Given the description of an element on the screen output the (x, y) to click on. 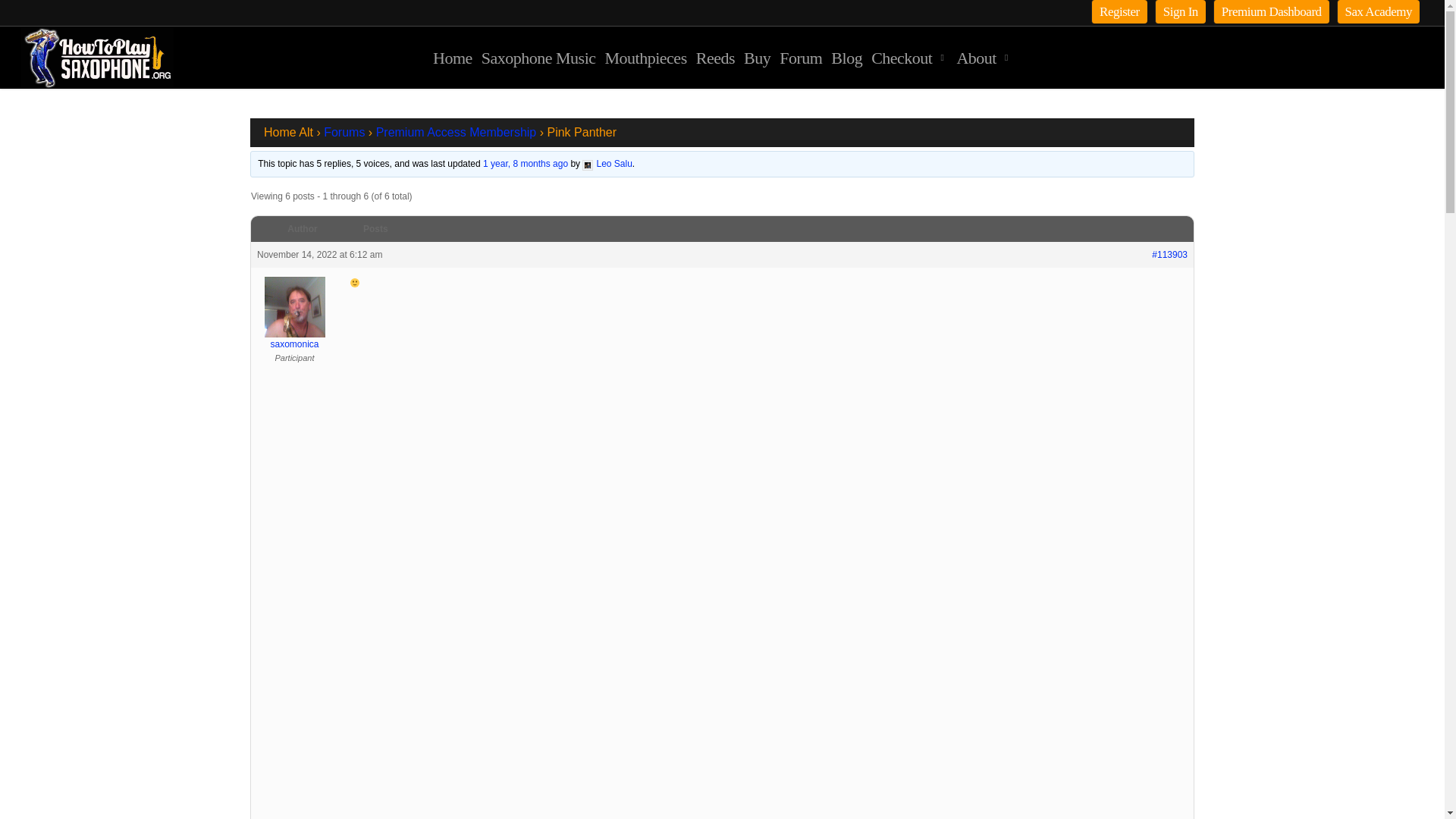
Reply To: Pink Panther (525, 163)
1 year, 8 months ago (525, 163)
Reeds (715, 57)
Sax Academy (1377, 11)
Buy (757, 57)
Home Alt (288, 132)
Checkout (908, 57)
Home (451, 57)
Mouthpieces (646, 57)
Forum (800, 57)
